Given the description of an element on the screen output the (x, y) to click on. 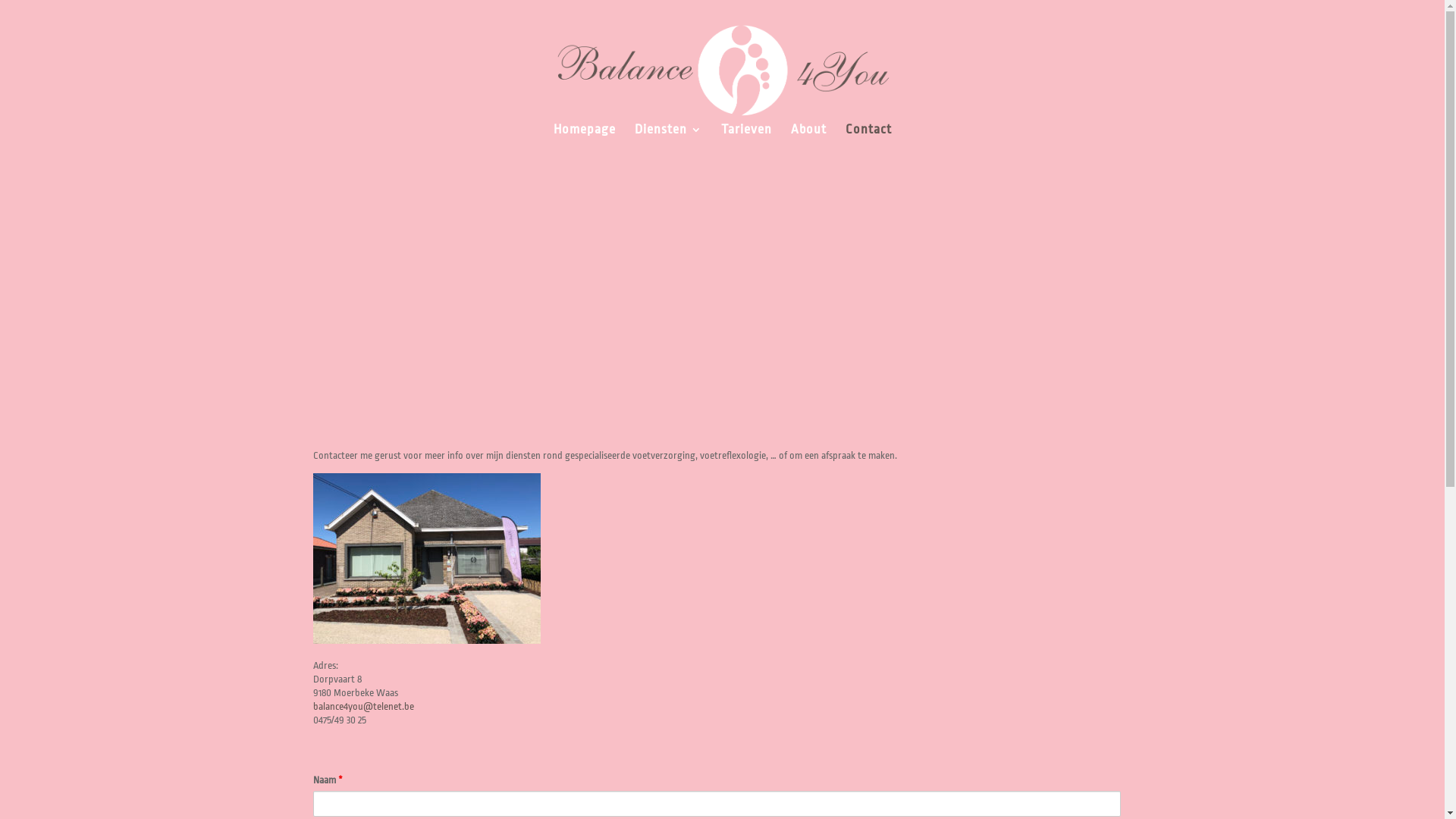
Diensten Element type: text (667, 140)
Tarieven Element type: text (745, 140)
About Element type: text (807, 140)
Contact Element type: text (867, 140)
Homepage Element type: text (584, 140)
balance4you@telenet.be Element type: text (362, 706)
